Given the description of an element on the screen output the (x, y) to click on. 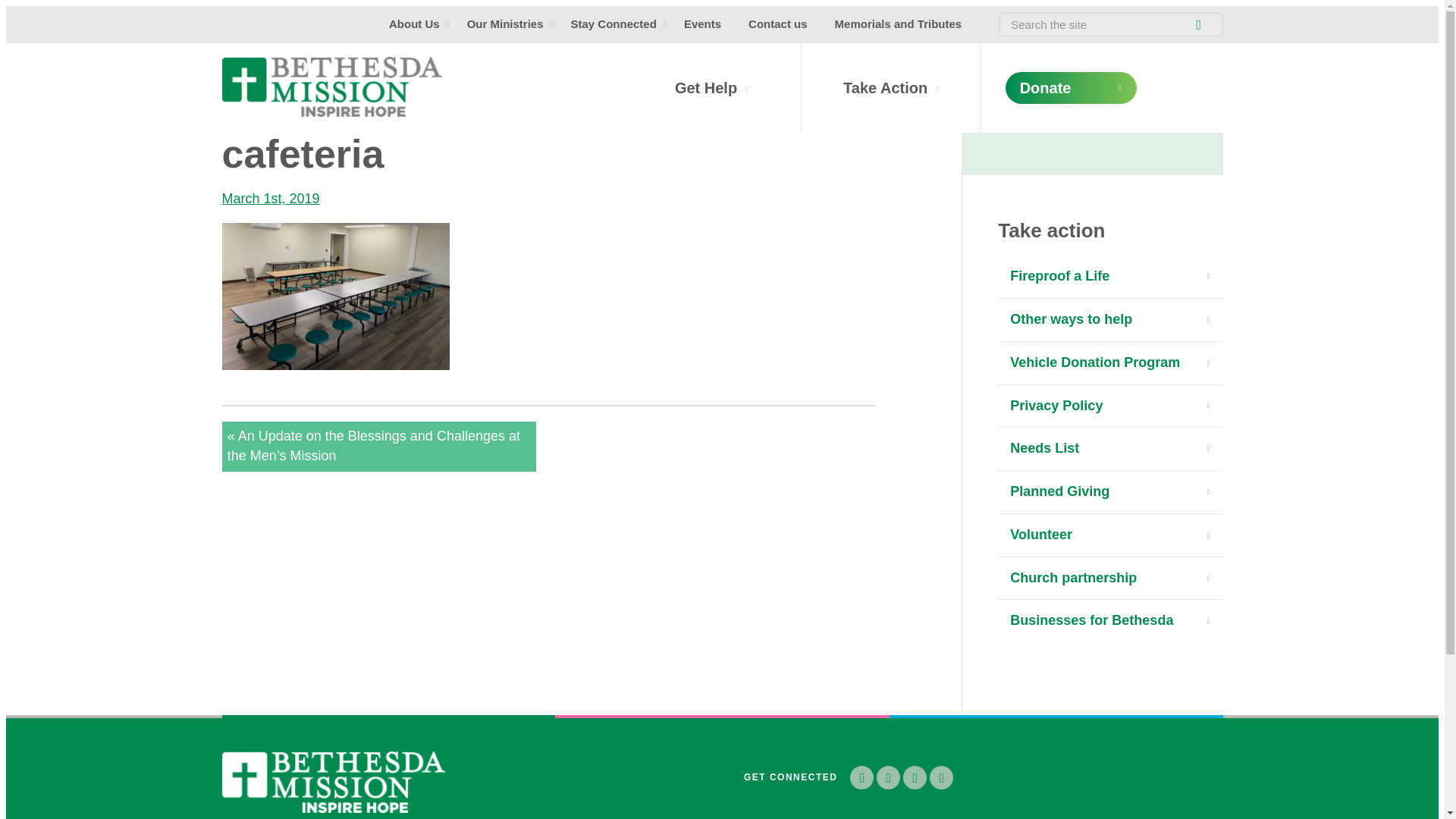
Memorials and Tributes (898, 24)
Get Help (712, 87)
Stay Connected (613, 24)
Our Ministries (505, 24)
About Us (413, 24)
Events (702, 24)
Contact us (778, 24)
Take Action (890, 87)
